Given the description of an element on the screen output the (x, y) to click on. 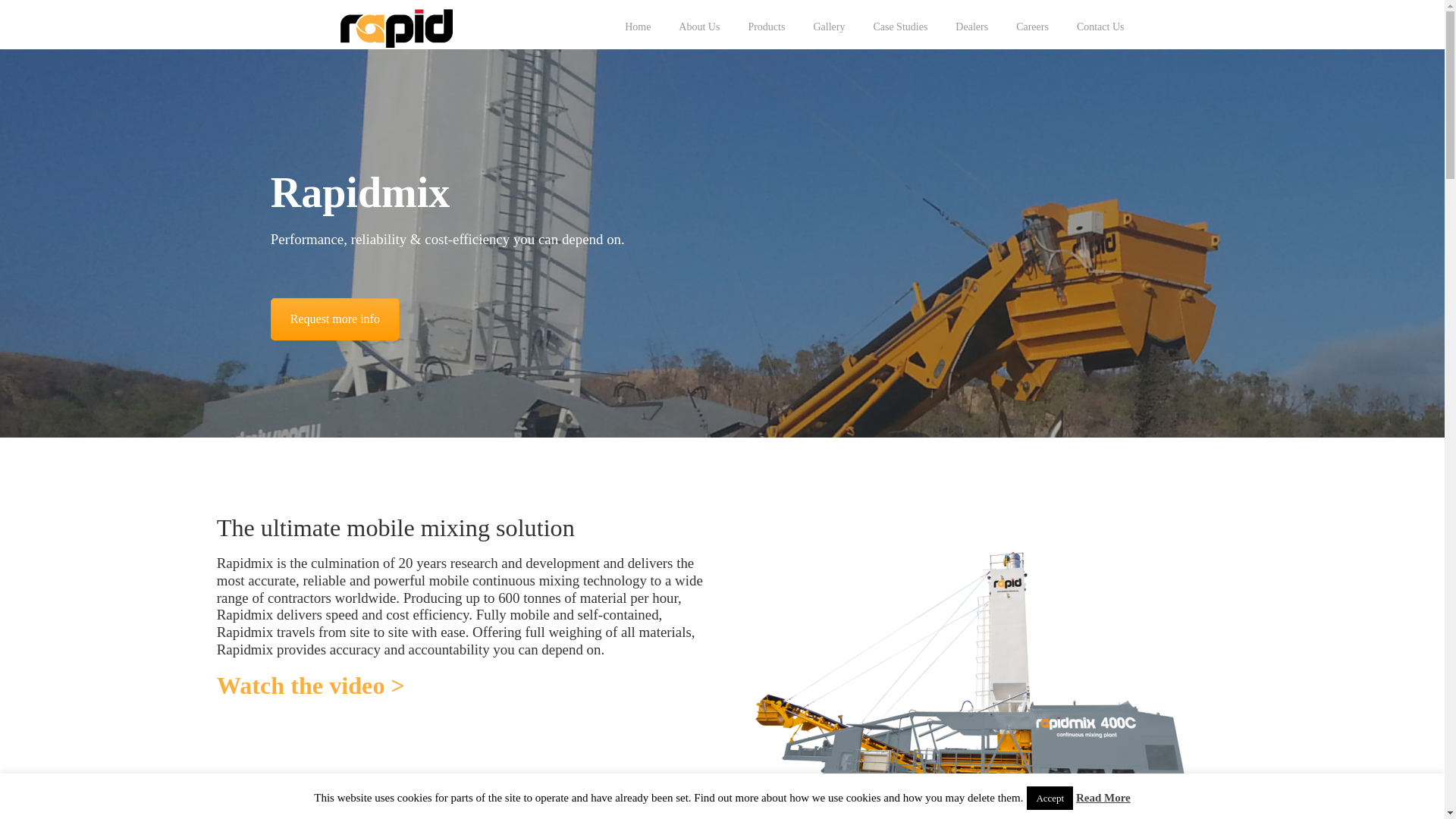
Page 1 (463, 628)
Contact Us (1100, 27)
Case Studies (899, 27)
Request more info (334, 319)
Products (765, 27)
Careers (1032, 27)
Gallery (828, 27)
Page 1 (463, 607)
Contact Us (334, 319)
Dealers (971, 27)
Home (637, 27)
About Us (699, 27)
